Given the description of an element on the screen output the (x, y) to click on. 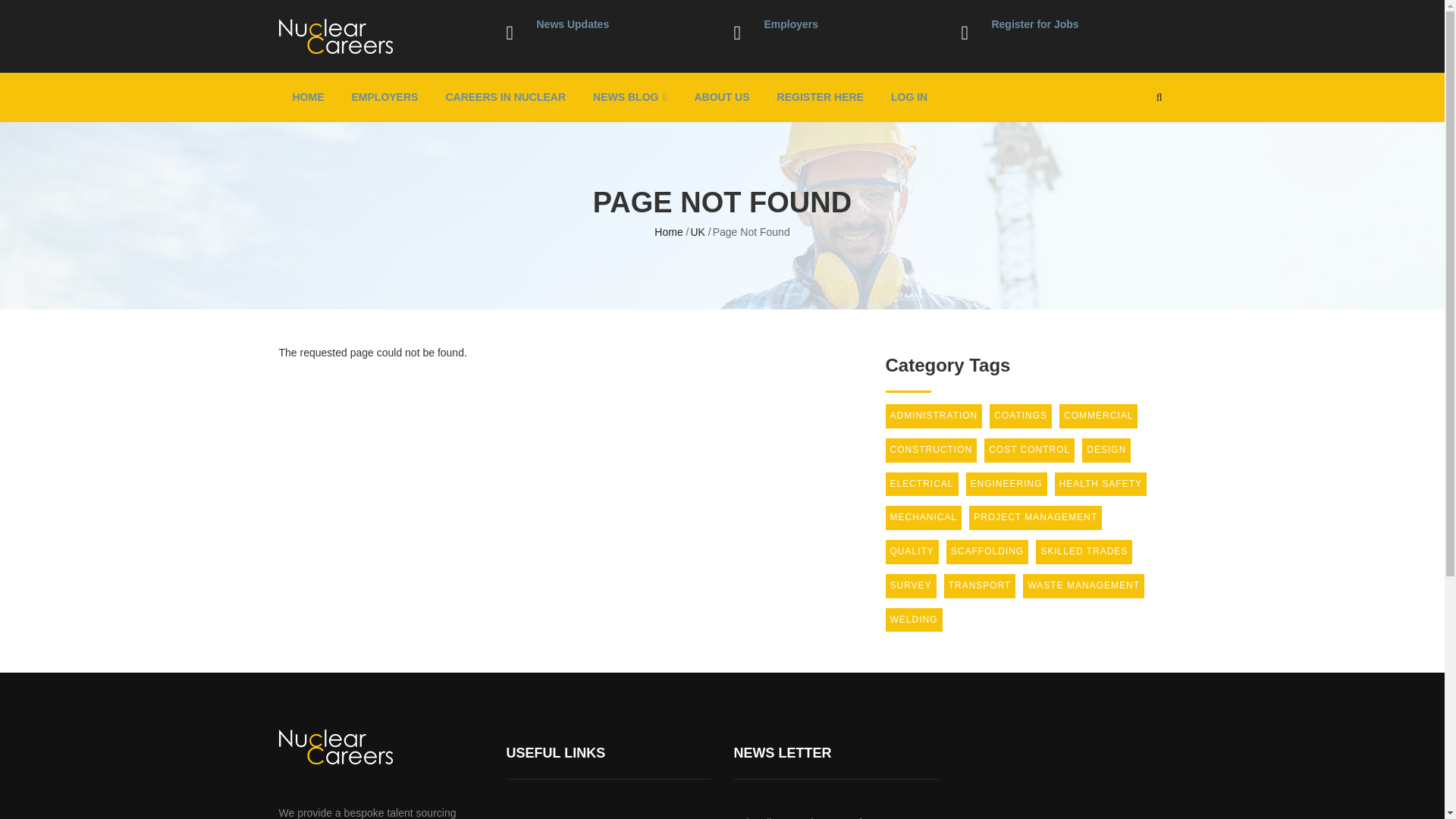
Register for Jobs (1034, 24)
News Updates (573, 24)
ABOUT US (720, 97)
CONSTRUCTION (930, 450)
SKILLED TRADES (1083, 551)
Home (667, 232)
COMMERCIAL (1098, 416)
Employers (790, 24)
QUALITY (912, 551)
COATINGS (1020, 416)
ADMINISTRATION (933, 416)
ENGINEERING (1006, 484)
DESIGN (1106, 450)
REGISTER HERE (819, 97)
HOME (308, 97)
